Given the description of an element on the screen output the (x, y) to click on. 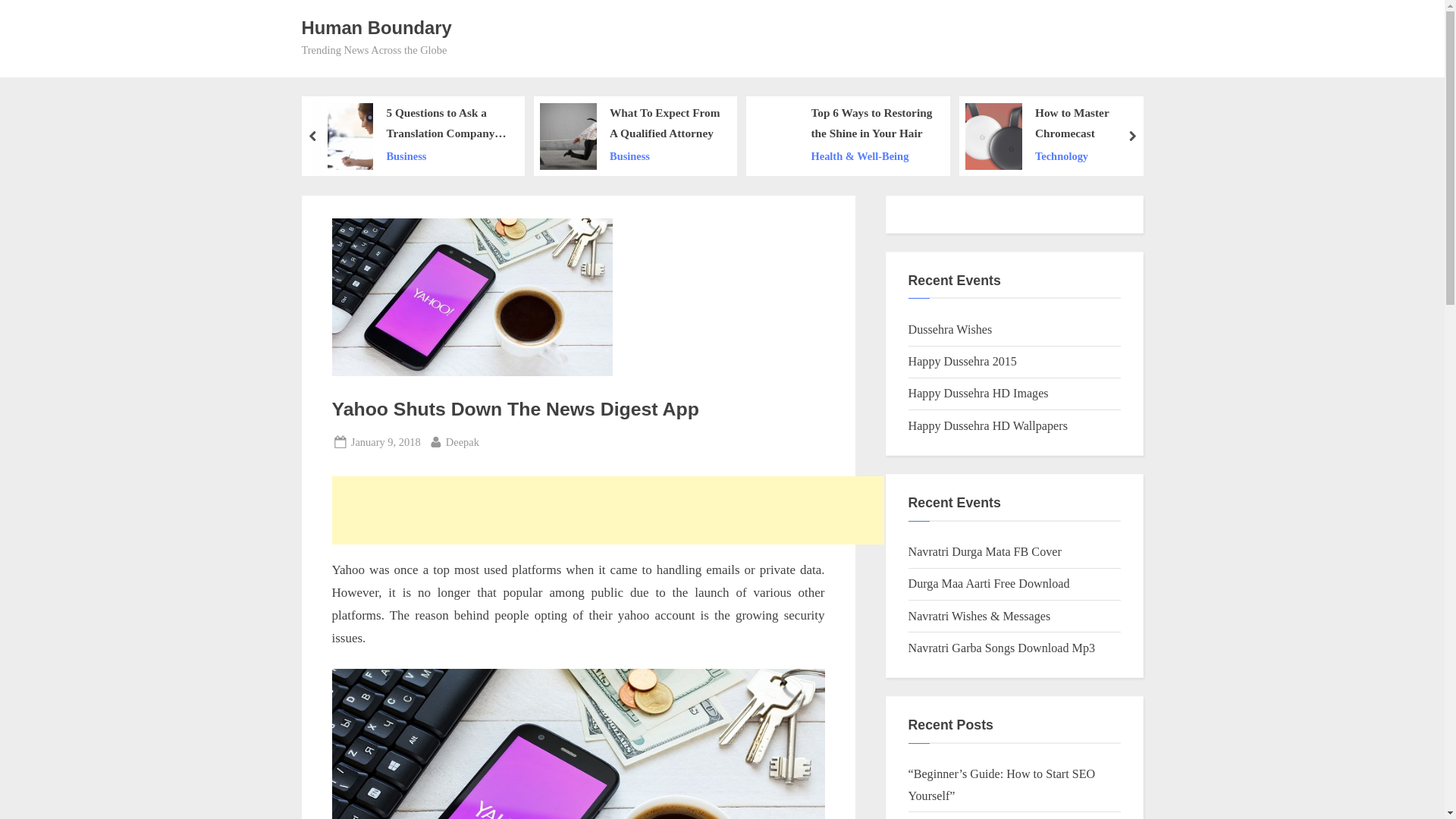
What To Expect From A Qualified Attorney (665, 124)
Advertisement (607, 509)
Human Boundary (376, 27)
5 Questions to Ask a Translation Company before Hiring Them (446, 124)
Technology (1089, 156)
Business (446, 156)
Top 6 Ways to Restoring the Shine in Your Hair (871, 124)
Business (665, 156)
How to Master Chromecast (1089, 124)
